Given the description of an element on the screen output the (x, y) to click on. 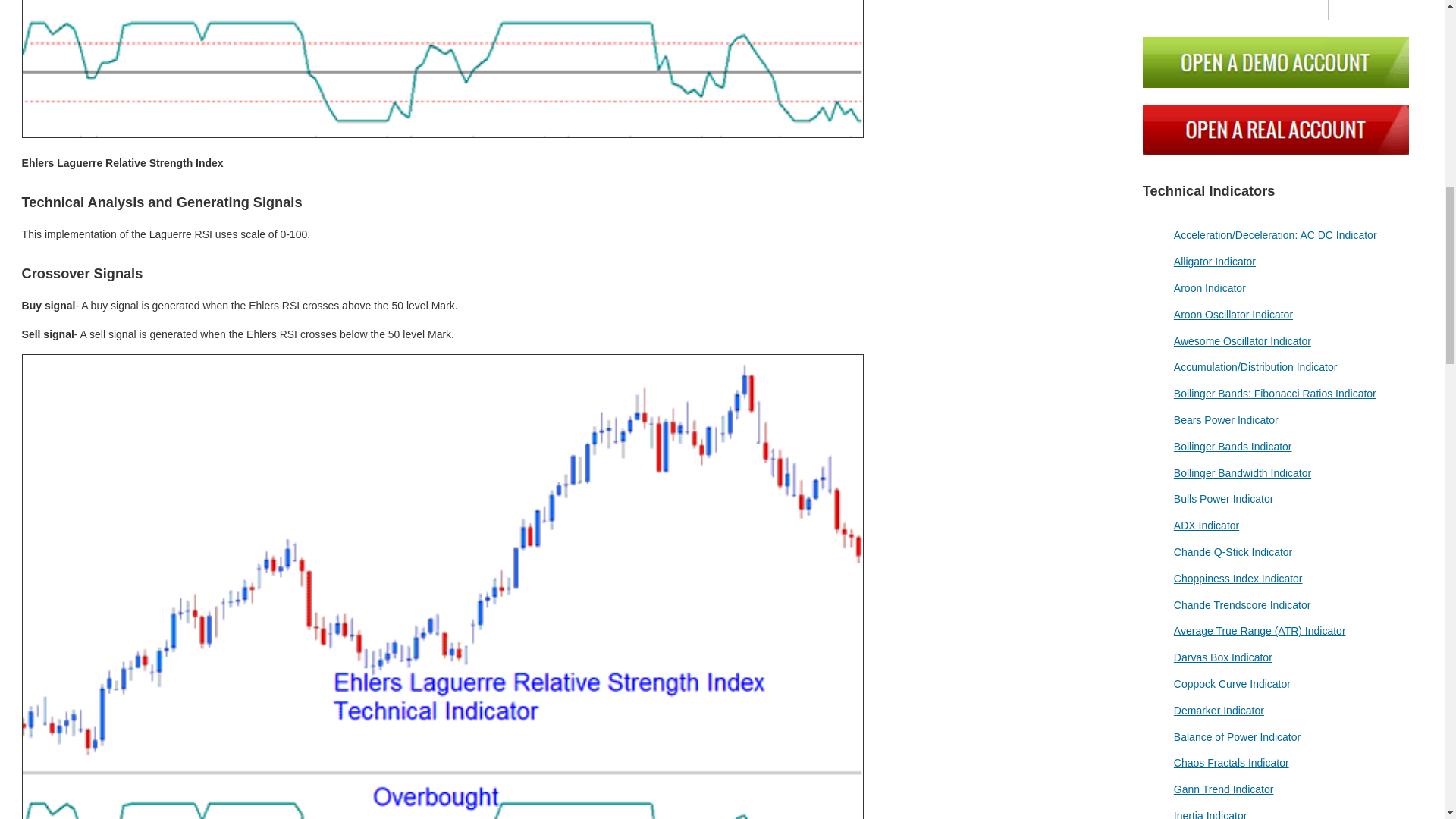
Bollinger Bands: Fibonacci Ratios Indicator (1274, 393)
Aroon Indicator (1209, 287)
Aroon Oscillator Indicator (1232, 314)
Choppiness Index Indicator (1238, 578)
Alligator Indicator (1214, 261)
Darvas Box Indicator (1222, 657)
Open Account (1282, 10)
Bears Power Indicator (1225, 419)
Bollinger Bands Indicator (1232, 446)
Bollinger Bandwidth Indicator (1242, 472)
